Given the description of an element on the screen output the (x, y) to click on. 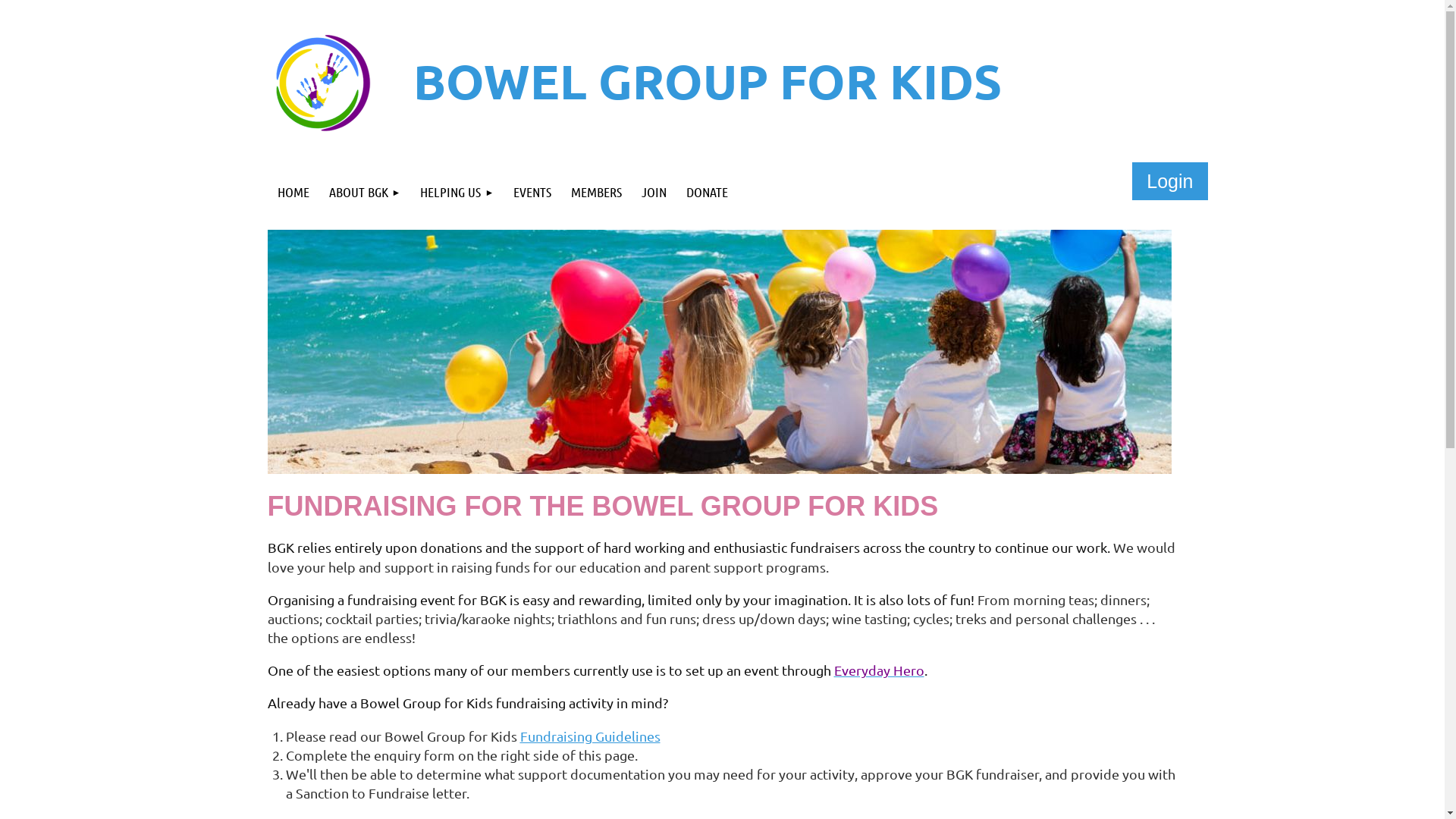
MEMBERS Element type: text (596, 192)
HELPING US Element type: text (456, 192)
Log in Element type: text (1170, 181)
EVENTS Element type: text (532, 192)
DONATE Element type: text (706, 192)
ABOUT BGK Element type: text (364, 192)
Fundraising Guidelines Element type: text (590, 735)
Everyday Hero Element type: text (879, 669)
JOIN Element type: text (653, 192)
HOME Element type: text (292, 192)
